Given the description of an element on the screen output the (x, y) to click on. 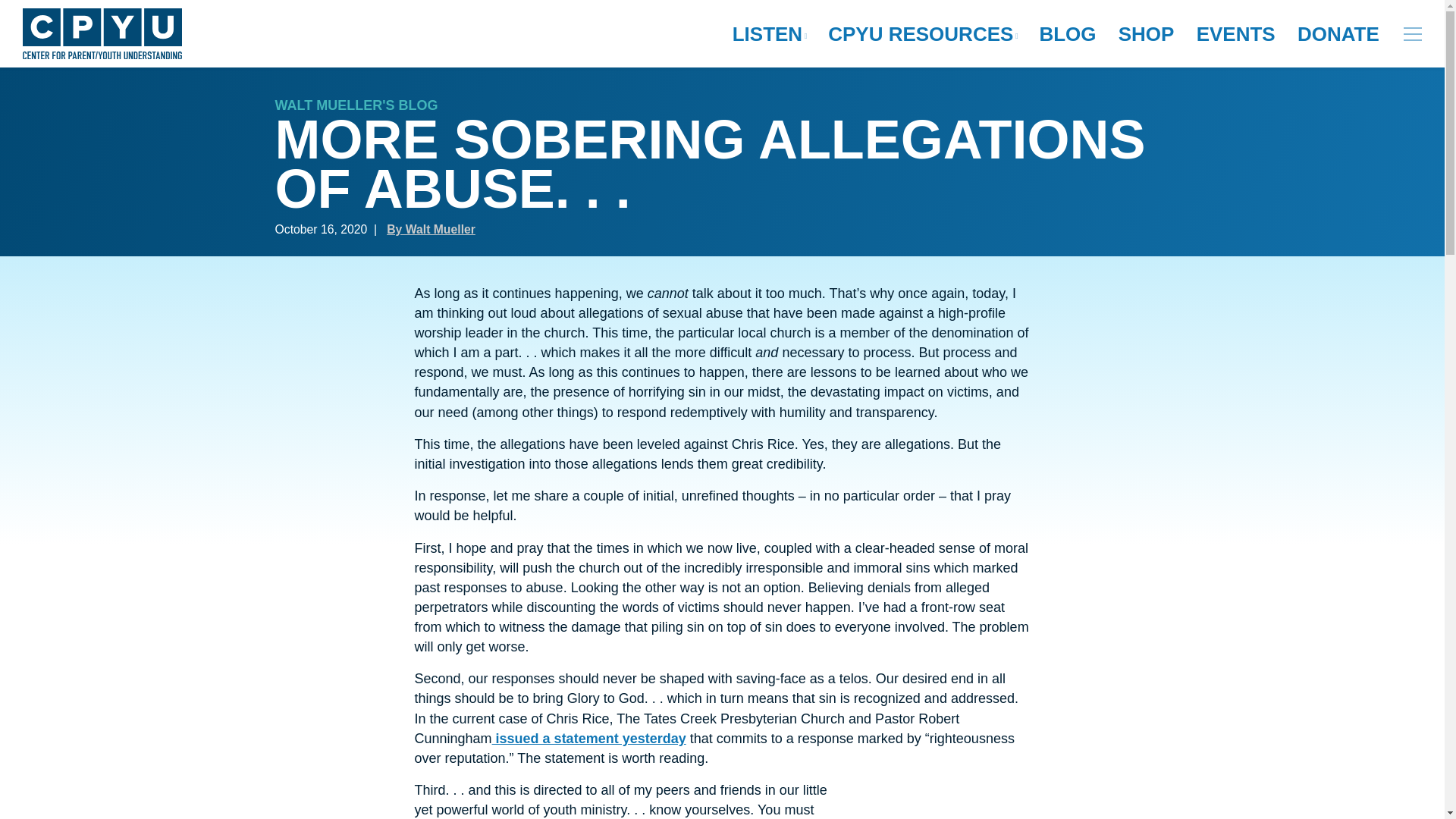
issued a statement yesterday (588, 738)
LISTEN (769, 34)
By Walt Mueller (431, 228)
SHOP (1146, 34)
DONATE (1338, 34)
WALT MUELLER'S BLOG (356, 105)
BLOG (1067, 34)
By Walt Mueller (431, 228)
EVENTS (1236, 34)
CPYU RESOURCES (922, 34)
